Given the description of an element on the screen output the (x, y) to click on. 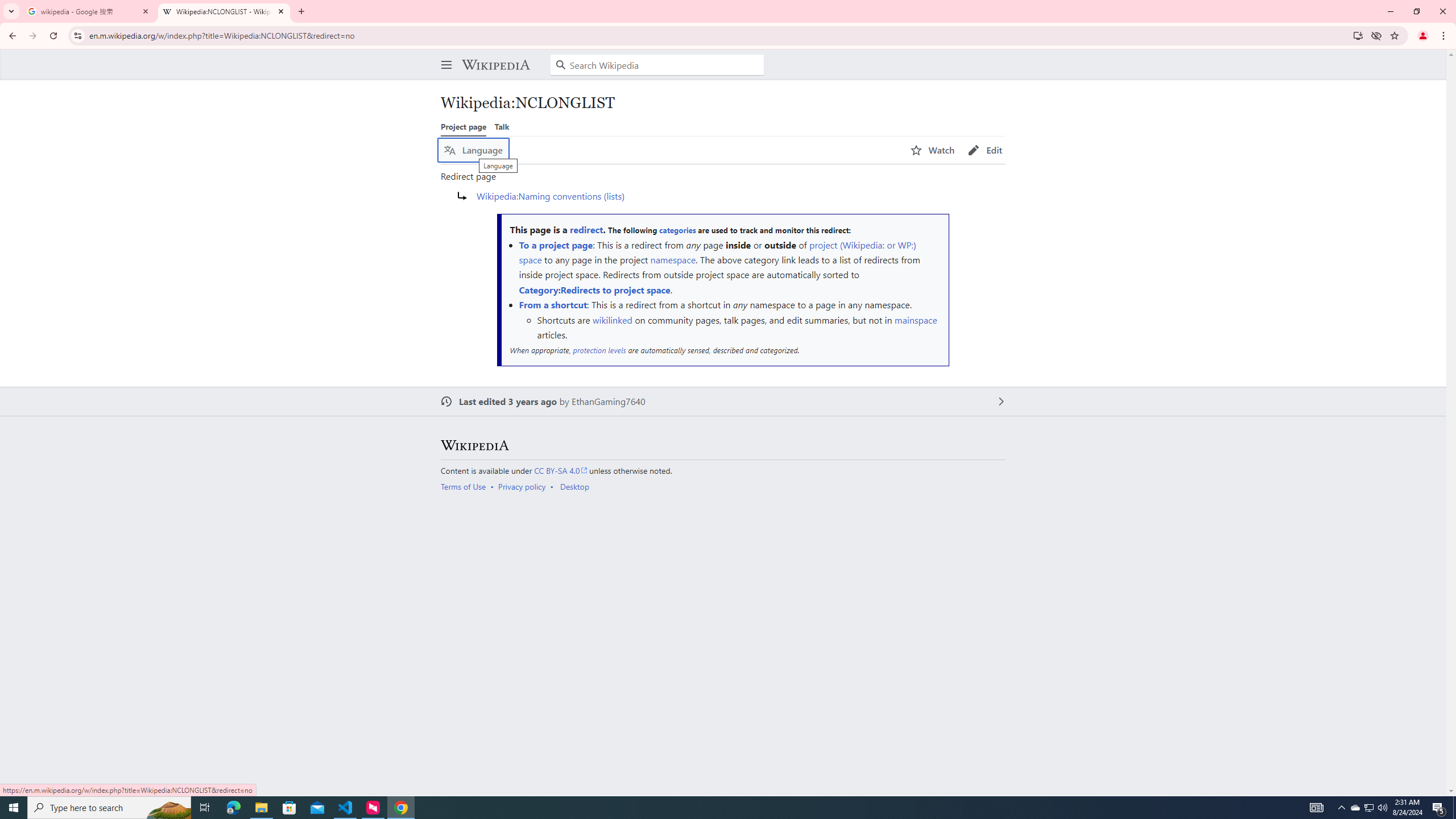
redirect (585, 229)
mainspace (915, 319)
AutomationID: page-actions-edit (984, 150)
Third-party cookies blocked (1376, 35)
Search Wikipedia (657, 64)
Wikipedia (474, 445)
CC BY-SA 4.0 (561, 469)
Category:Redirects to project space (594, 289)
AutomationID: language-selector (670, 150)
Edit (984, 149)
Wikipedia:NCLONGLIST - Wikipedia (224, 11)
